Given the description of an element on the screen output the (x, y) to click on. 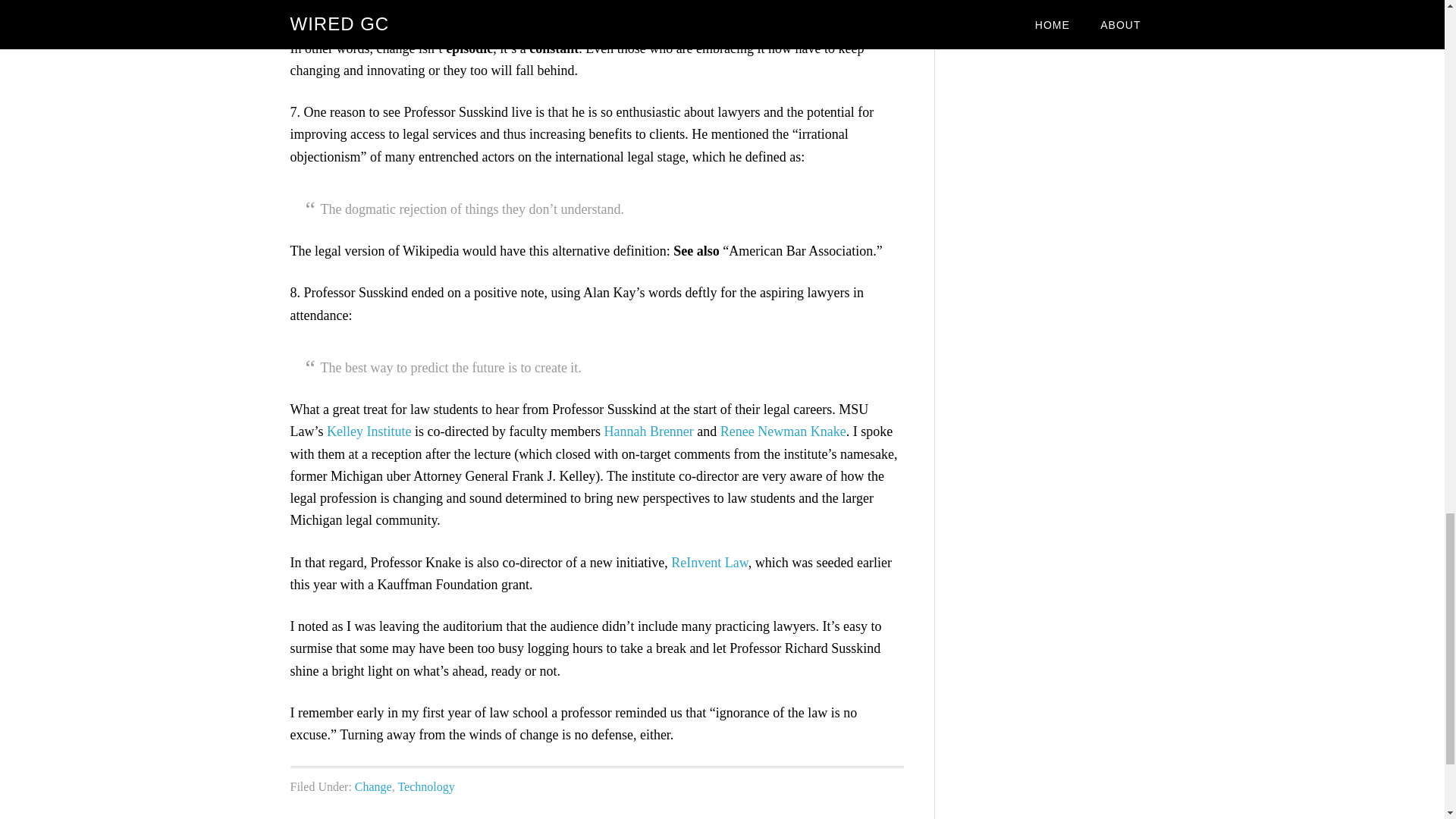
Kelley Institute (368, 431)
Hannah Brenner (648, 431)
Change (373, 786)
ReInvent Law (709, 562)
Technology (425, 786)
Renee Newman Knake (782, 431)
